Given the description of an element on the screen output the (x, y) to click on. 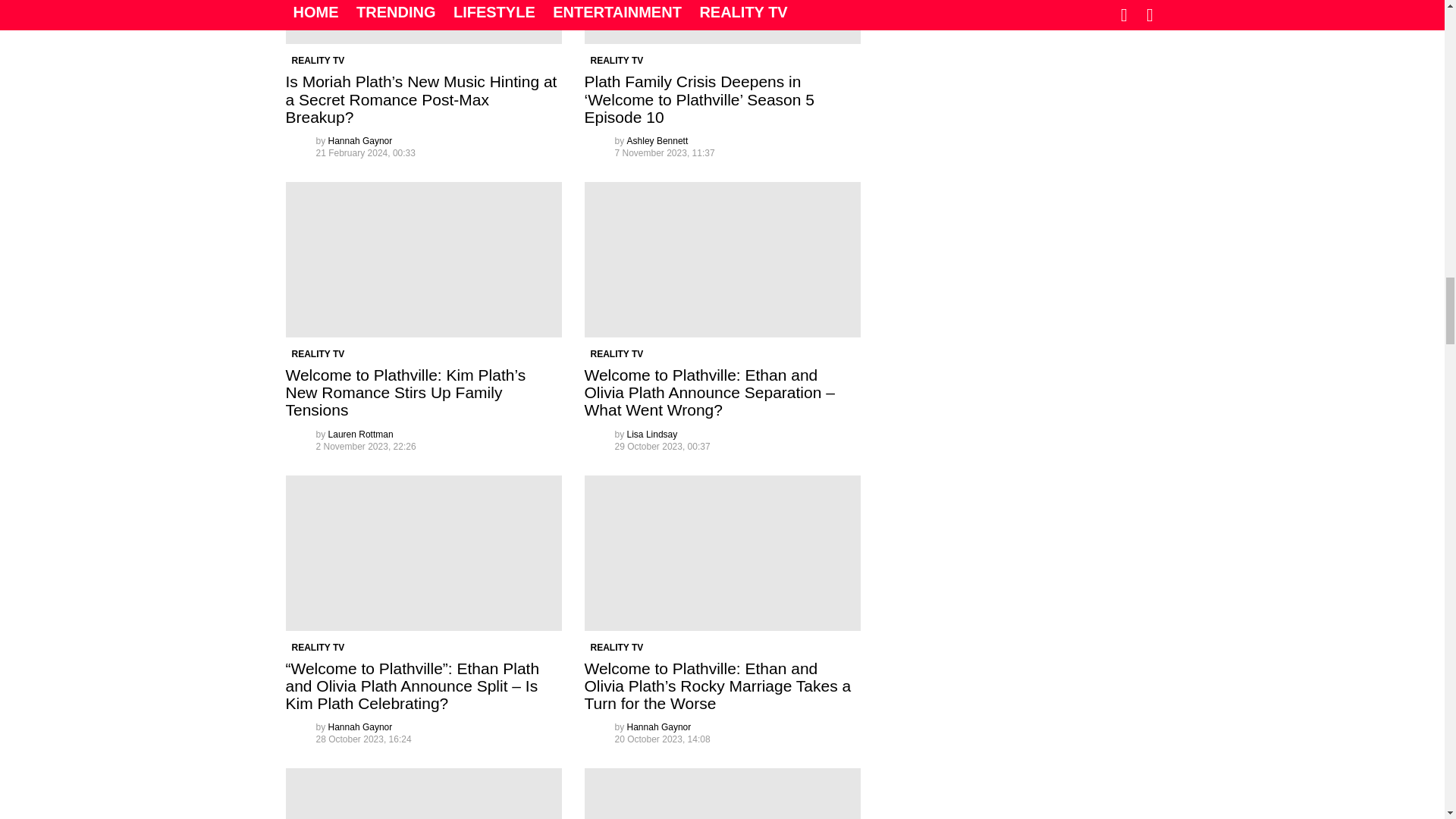
Posts by Ashley Bennett (657, 140)
REALITY TV (317, 60)
Posts by Hannah Gaynor (361, 140)
